Given the description of an element on the screen output the (x, y) to click on. 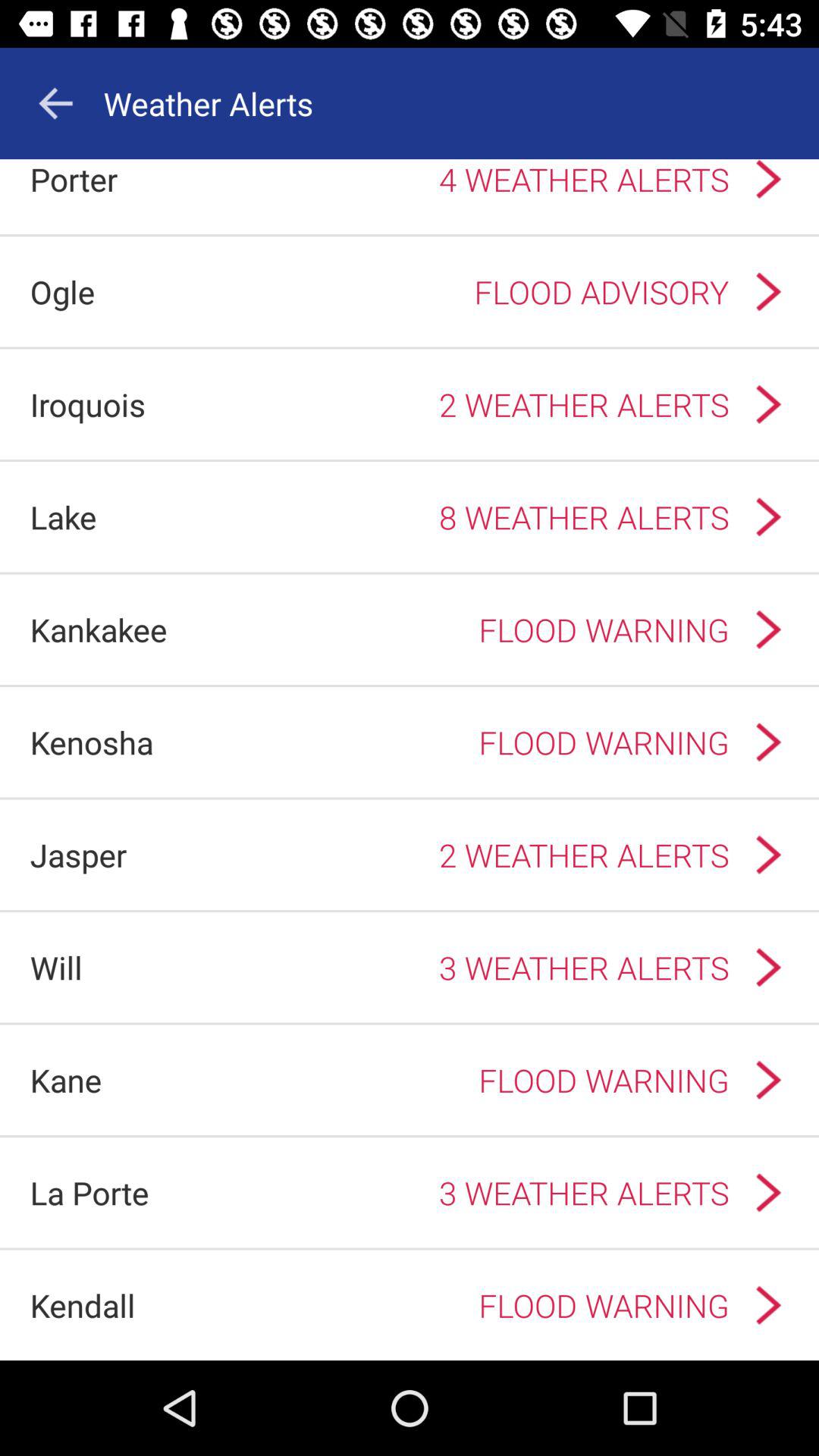
turn on item next to the 2 weather alerts icon (87, 403)
